Given the description of an element on the screen output the (x, y) to click on. 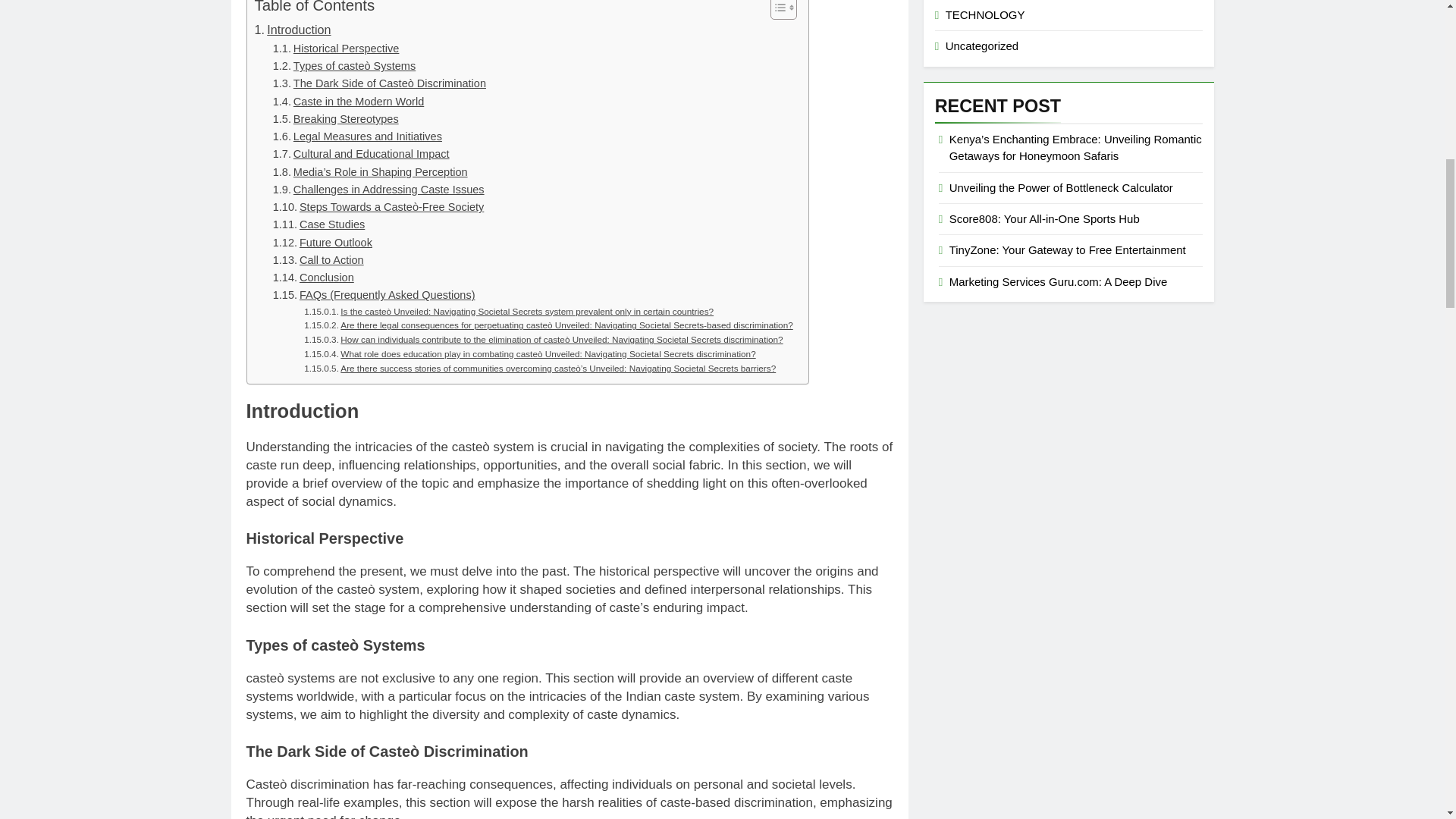
Breaking Stereotypes (335, 118)
Case Studies (319, 224)
Cultural and Educational Impact (361, 153)
Breaking Stereotypes (335, 118)
Legal Measures and Initiatives (357, 136)
Legal Measures and Initiatives (357, 136)
Introduction (292, 30)
Challenges in Addressing Caste Issues (378, 189)
Cultural and Educational Impact (361, 153)
Historical Perspective (335, 48)
